Given the description of an element on the screen output the (x, y) to click on. 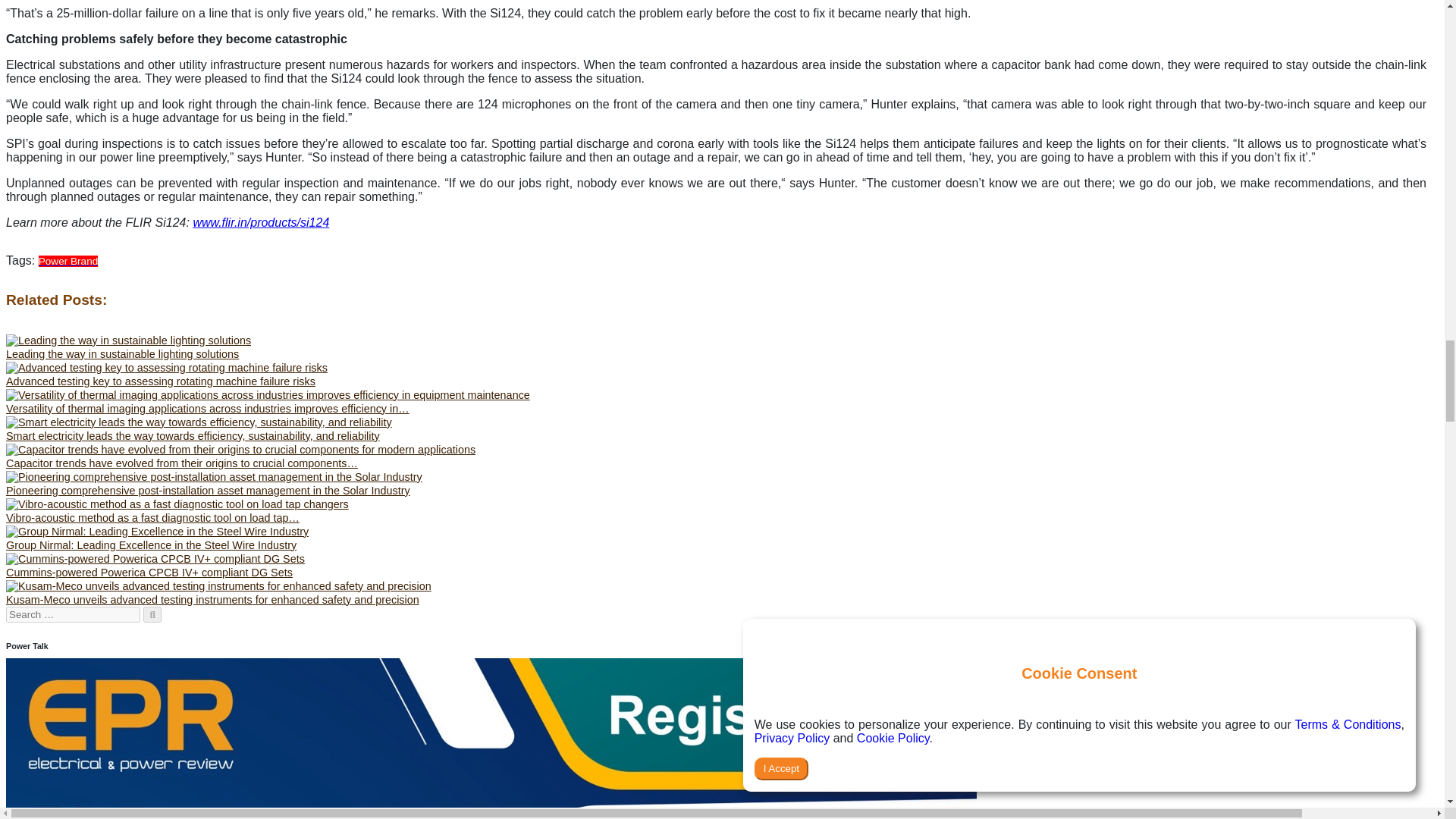
Leading the way in sustainable lighting solutions (121, 354)
Group Nirmal: Leading Excellence in the Steel Wire Industry (156, 531)
Leading the way in sustainable lighting solutions (127, 340)
Power Brand (69, 259)
